Given the description of an element on the screen output the (x, y) to click on. 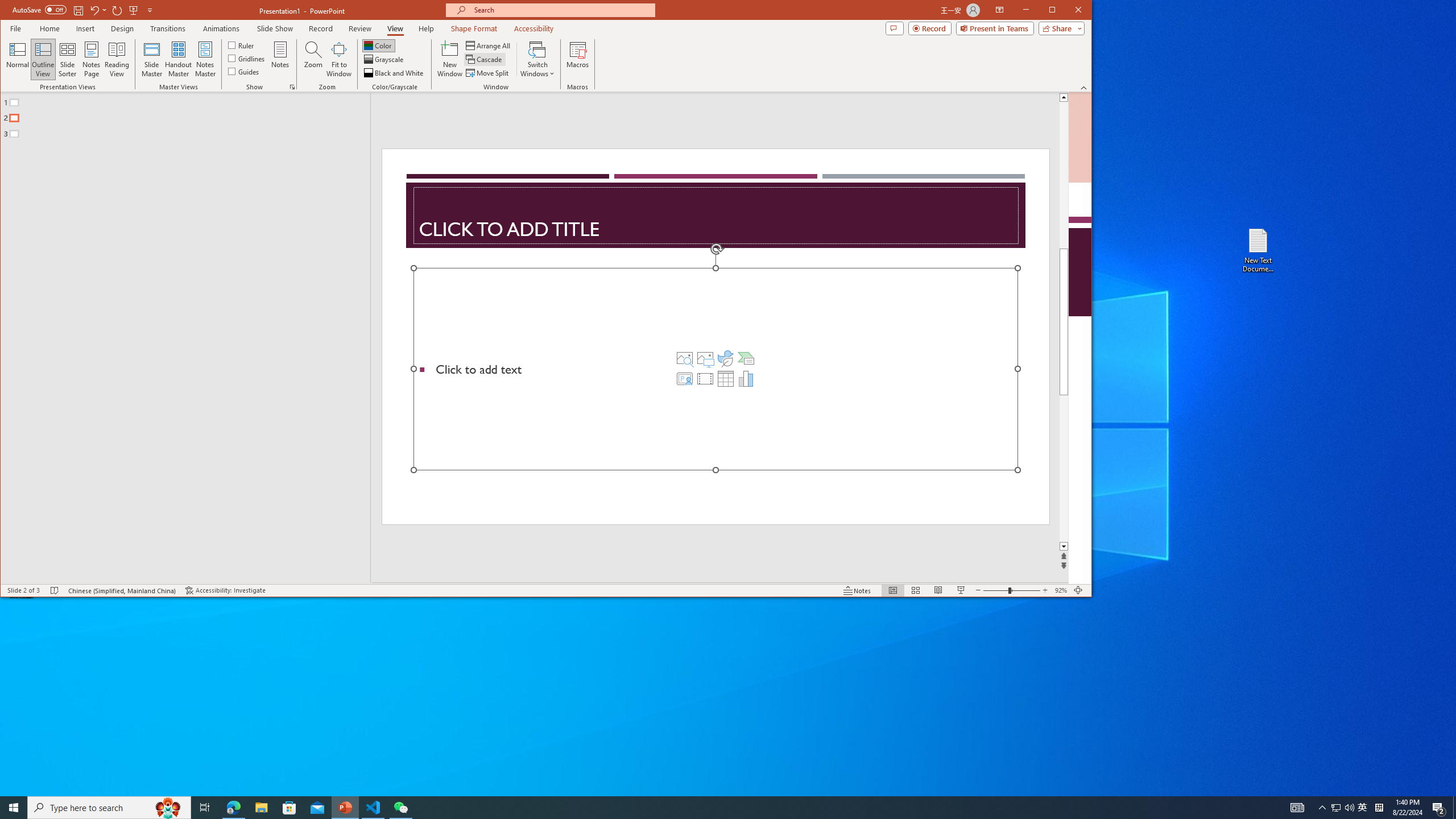
Color (378, 45)
Insert Table (725, 378)
Outline (189, 115)
Ruler (241, 44)
New Window (450, 59)
Insert an Icon (725, 357)
